Given the description of an element on the screen output the (x, y) to click on. 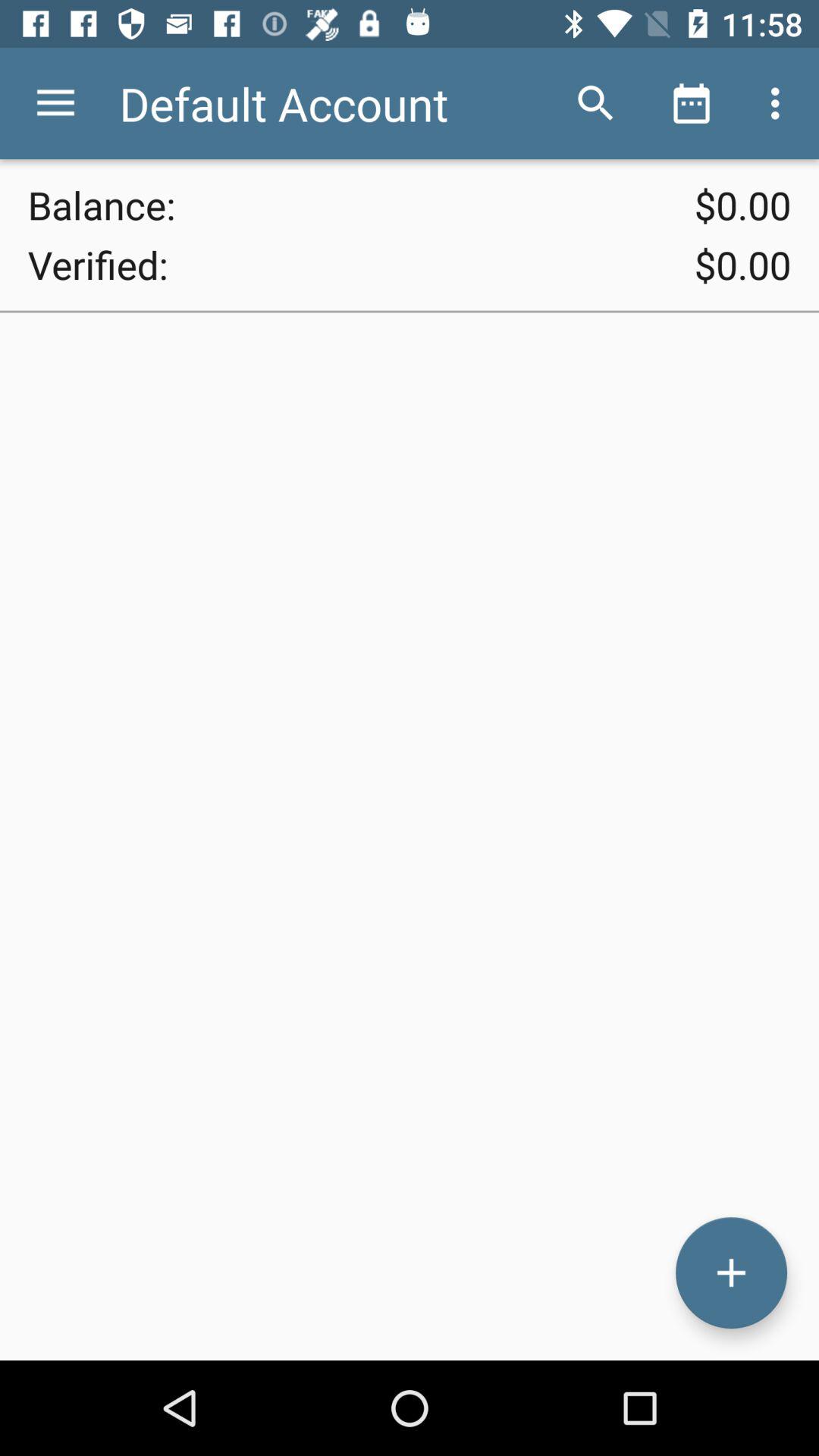
press item above the $0.00 (595, 103)
